Given the description of an element on the screen output the (x, y) to click on. 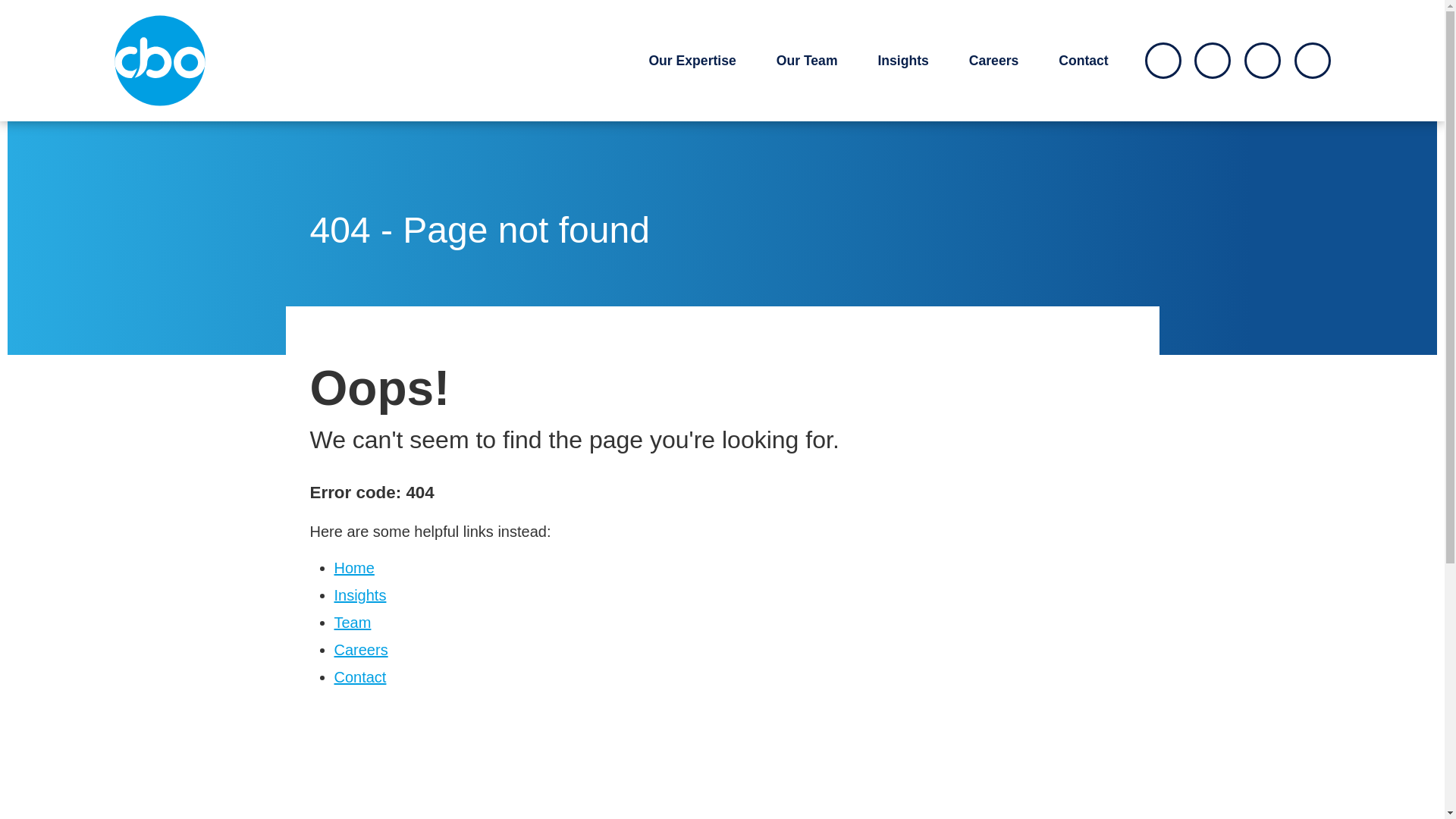
Careers (360, 649)
Insights (902, 60)
Contact (1083, 60)
Careers (994, 60)
Team (352, 622)
Insights (359, 595)
Our Team (807, 60)
Contact (359, 677)
Our Expertise (691, 60)
Home (353, 567)
